Given the description of an element on the screen output the (x, y) to click on. 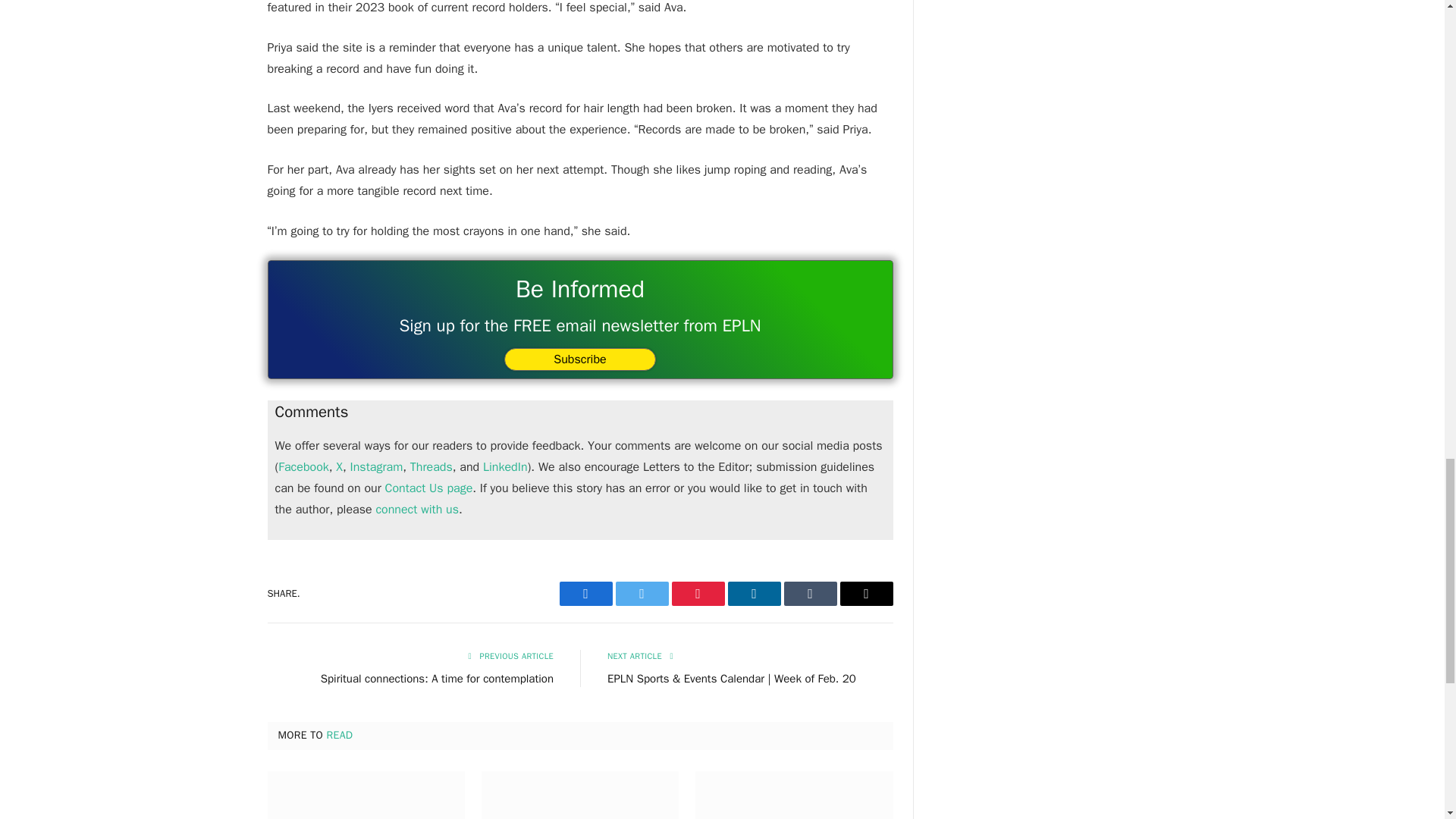
Share on Pinterest (698, 593)
Share on Facebook (585, 593)
Share on LinkedIn (754, 593)
Share via Email (866, 593)
Share on Tumblr (810, 593)
Eagle Marching Band in State Fair parade (365, 795)
